Given the description of an element on the screen output the (x, y) to click on. 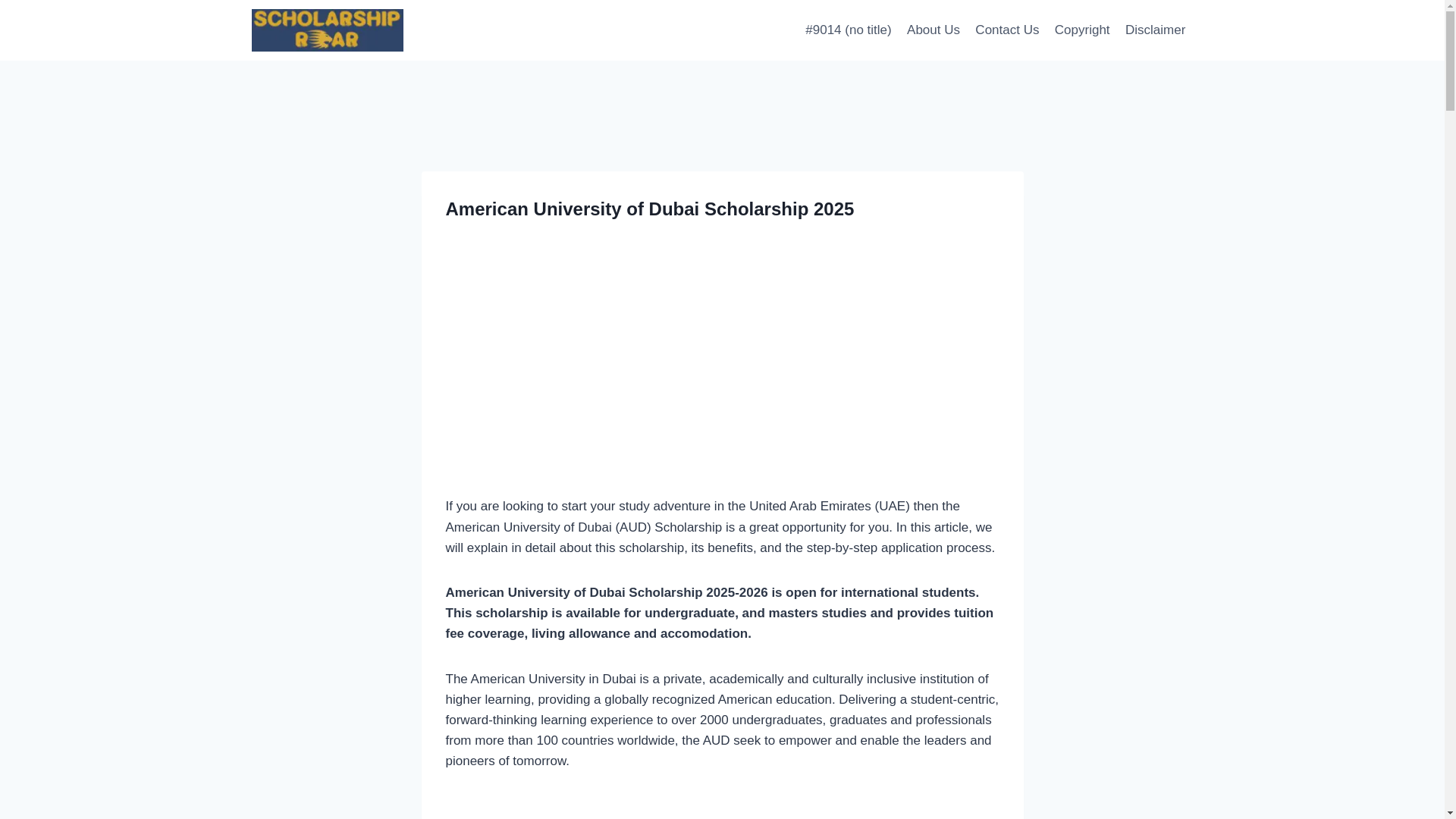
3rd party ad content (721, 368)
About Us (933, 30)
Disclaimer (1155, 30)
Copyright (1082, 30)
Contact Us (1007, 30)
3rd party ad content (721, 139)
3rd party ad content (721, 807)
